Given the description of an element on the screen output the (x, y) to click on. 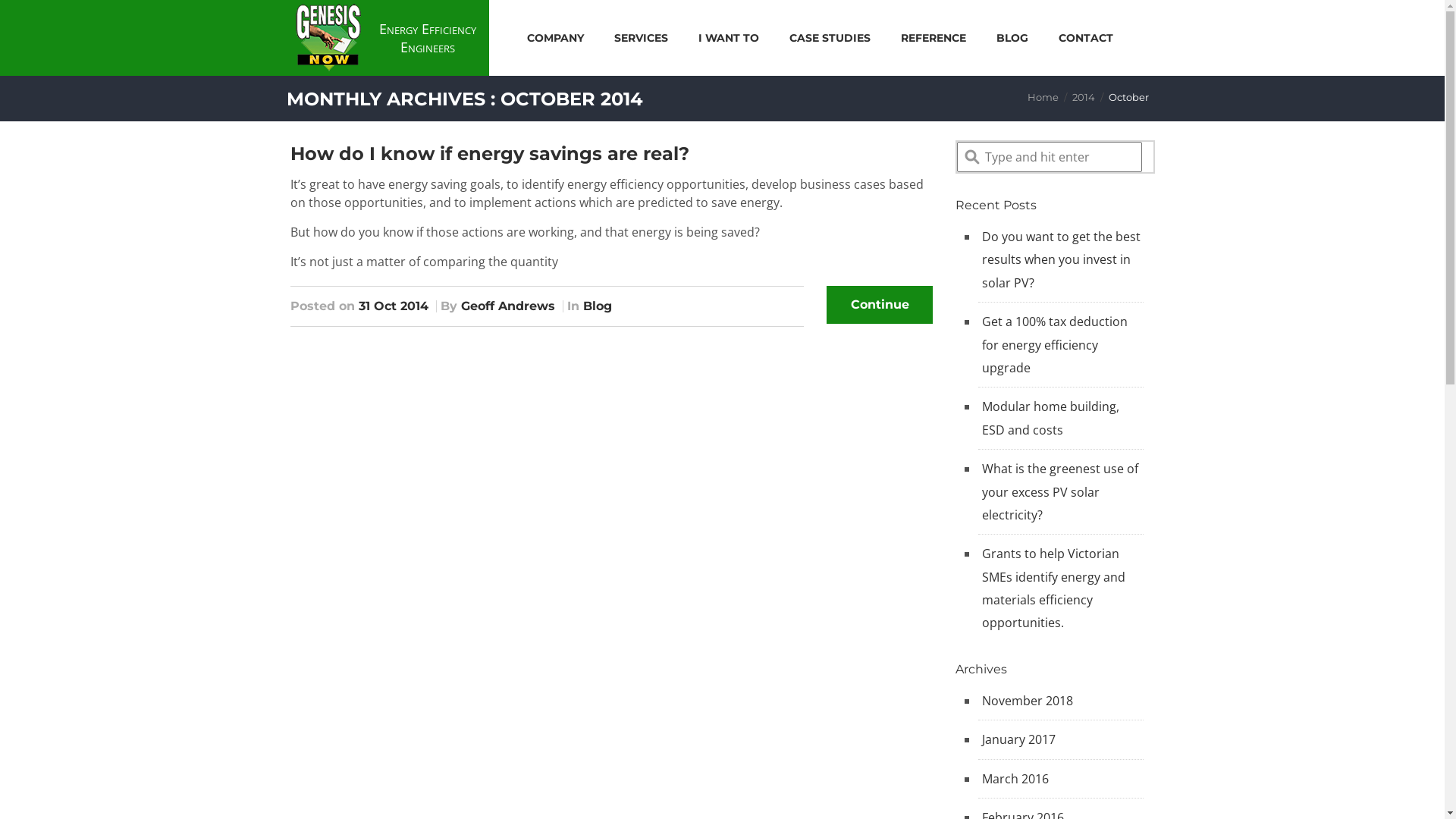
Home Element type: text (1041, 97)
Energy Efficiency Engineers Element type: text (389, 37)
How do I know if energy savings are real? Element type: text (488, 153)
Geoff Andrews Element type: text (508, 305)
COMPANY Element type: text (555, 37)
Get a 100% tax deduction for energy efficiency upgrade Element type: text (1054, 344)
SERVICES Element type: text (641, 37)
Continue Reading Element type: text (879, 304)
I WANT TO Element type: text (728, 37)
BLOG Element type: text (1012, 37)
January 2017 Element type: text (1018, 739)
CONTACT Element type: text (1085, 37)
March 2016 Element type: text (1015, 778)
CASE STUDIES Element type: text (829, 37)
Modular home building, ESD and costs Element type: text (1050, 417)
Blog Element type: text (596, 305)
REFERENCE Element type: text (933, 37)
2014 Element type: text (1083, 97)
November 2018 Element type: text (1027, 700)
